Given the description of an element on the screen output the (x, y) to click on. 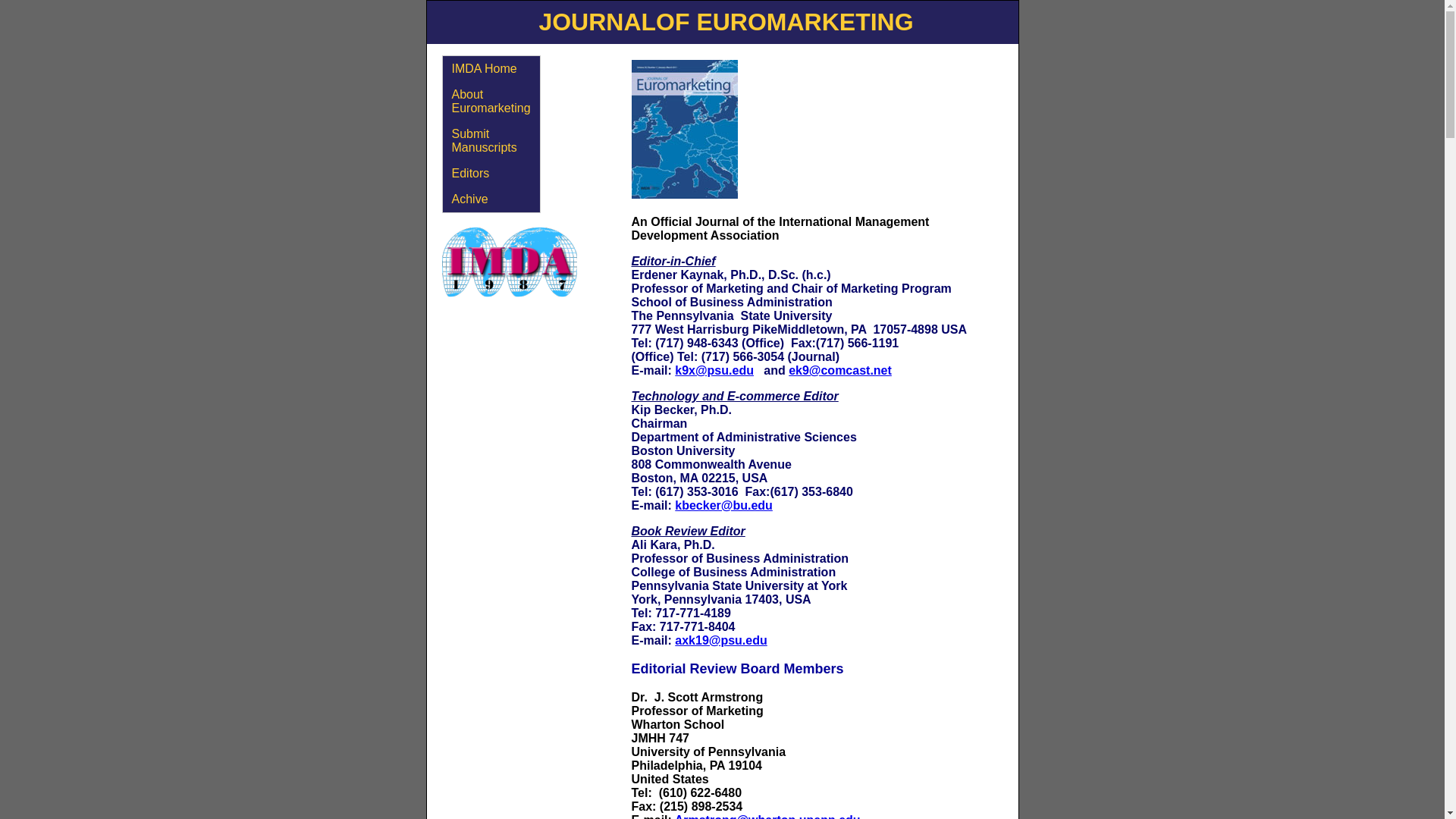
ek9@comcast.net Element type: text (839, 370)
About Euromarketing Element type: text (490, 101)
axk19@psu.edu Element type: text (720, 639)
Submit Manuscripts Element type: text (490, 140)
kbecker@bu.edu Element type: text (723, 504)
k9x@psu.edu Element type: text (713, 370)
Achive Element type: text (490, 199)
Editors Element type: text (490, 173)
IMDA Home Element type: text (490, 68)
